Given the description of an element on the screen output the (x, y) to click on. 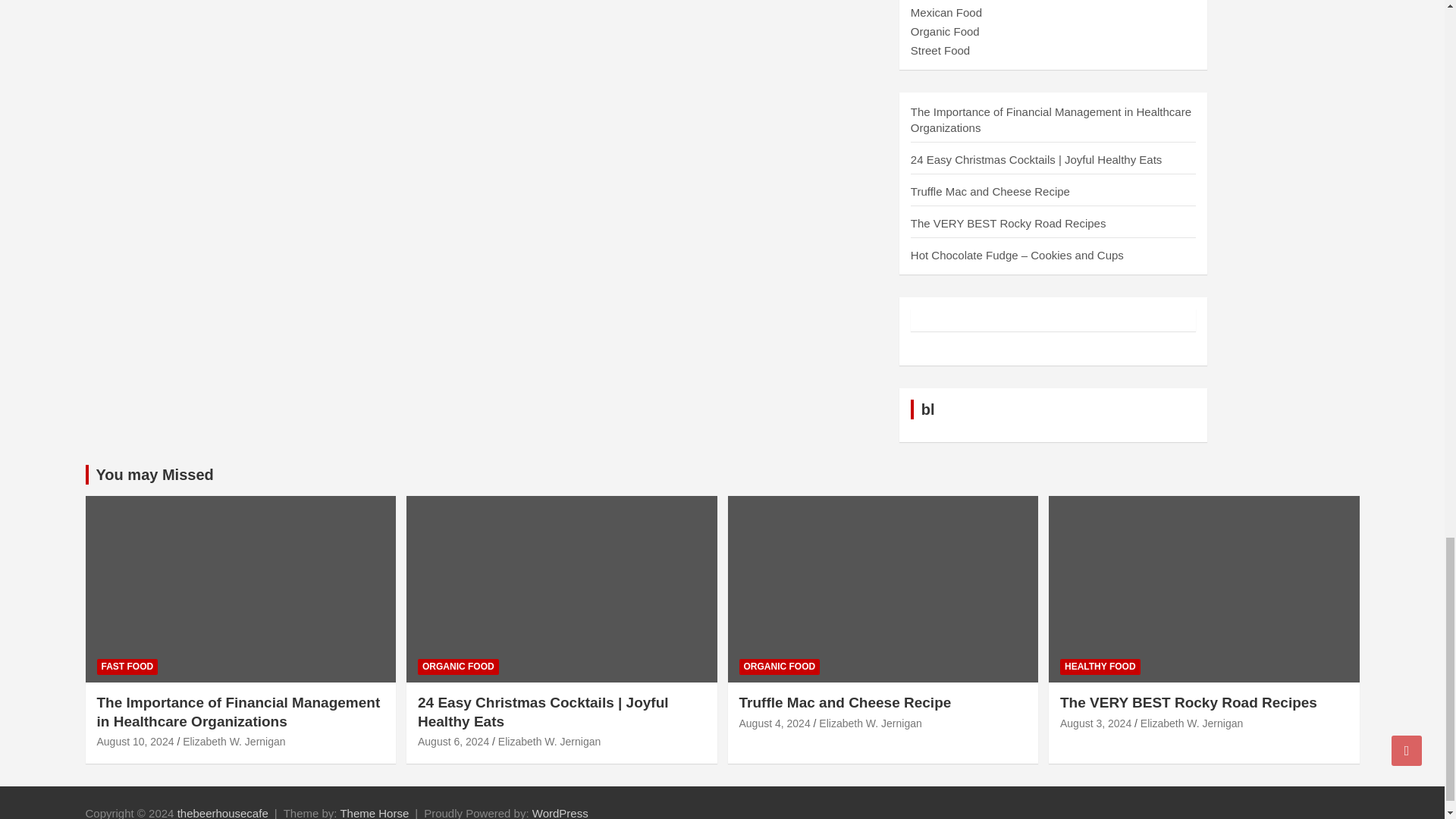
Truffle Mac and Cheese Recipe (773, 723)
The VERY BEST Rocky Road Recipes (1095, 723)
thebeerhousecafe (222, 812)
Theme Horse (374, 812)
